Given the description of an element on the screen output the (x, y) to click on. 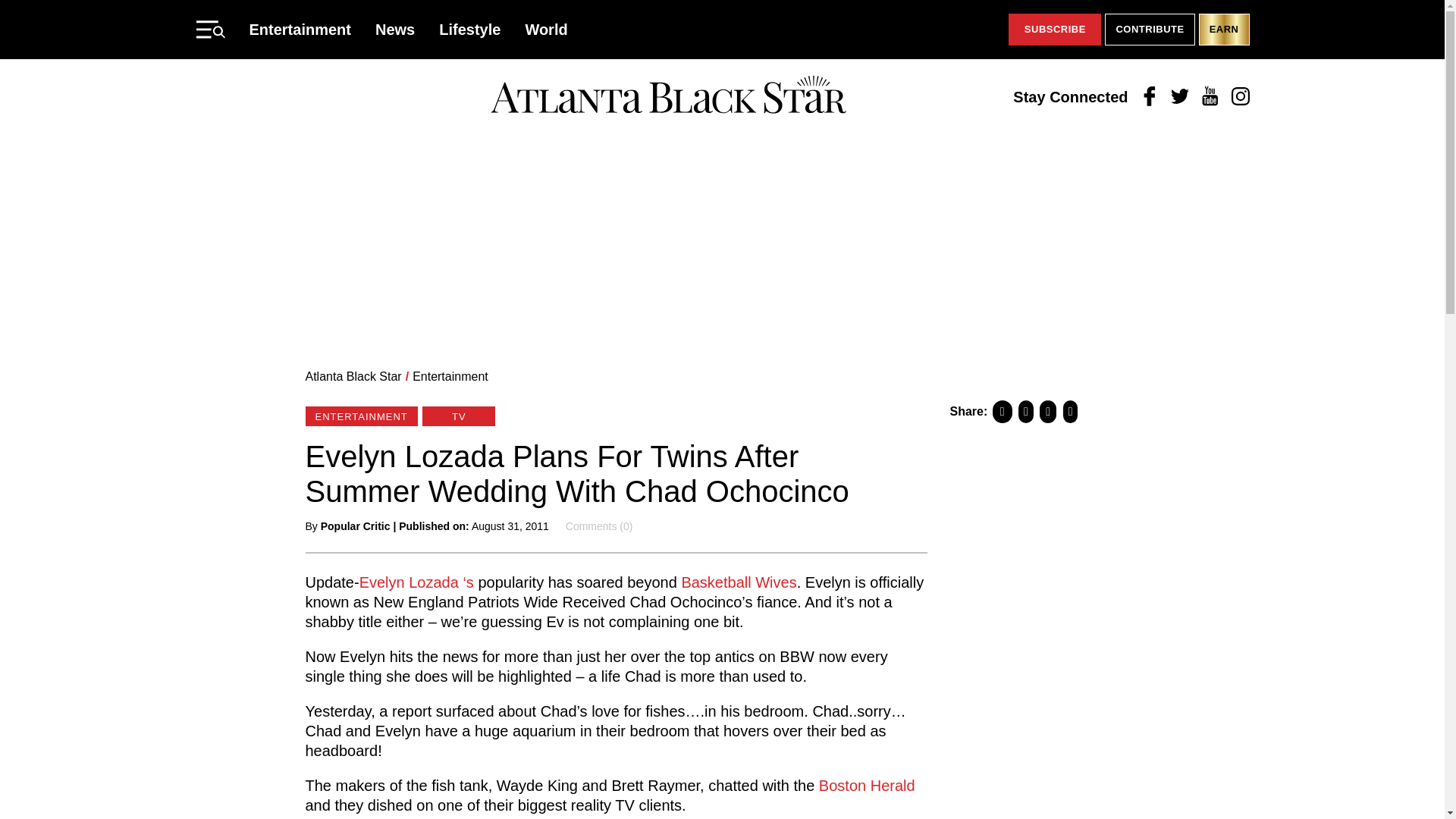
Entertainment (449, 376)
Go to the Entertainment Category archives. (449, 376)
World (545, 29)
News (394, 29)
SUBSCRIBE (1054, 29)
Entertainment (299, 29)
Lifestyle (469, 29)
Go to Atlanta Black Star. (352, 376)
Atlanta Black Star (667, 96)
EARN (1223, 29)
CONTRIBUTE (1149, 29)
Atlanta Black Star (352, 376)
